Given the description of an element on the screen output the (x, y) to click on. 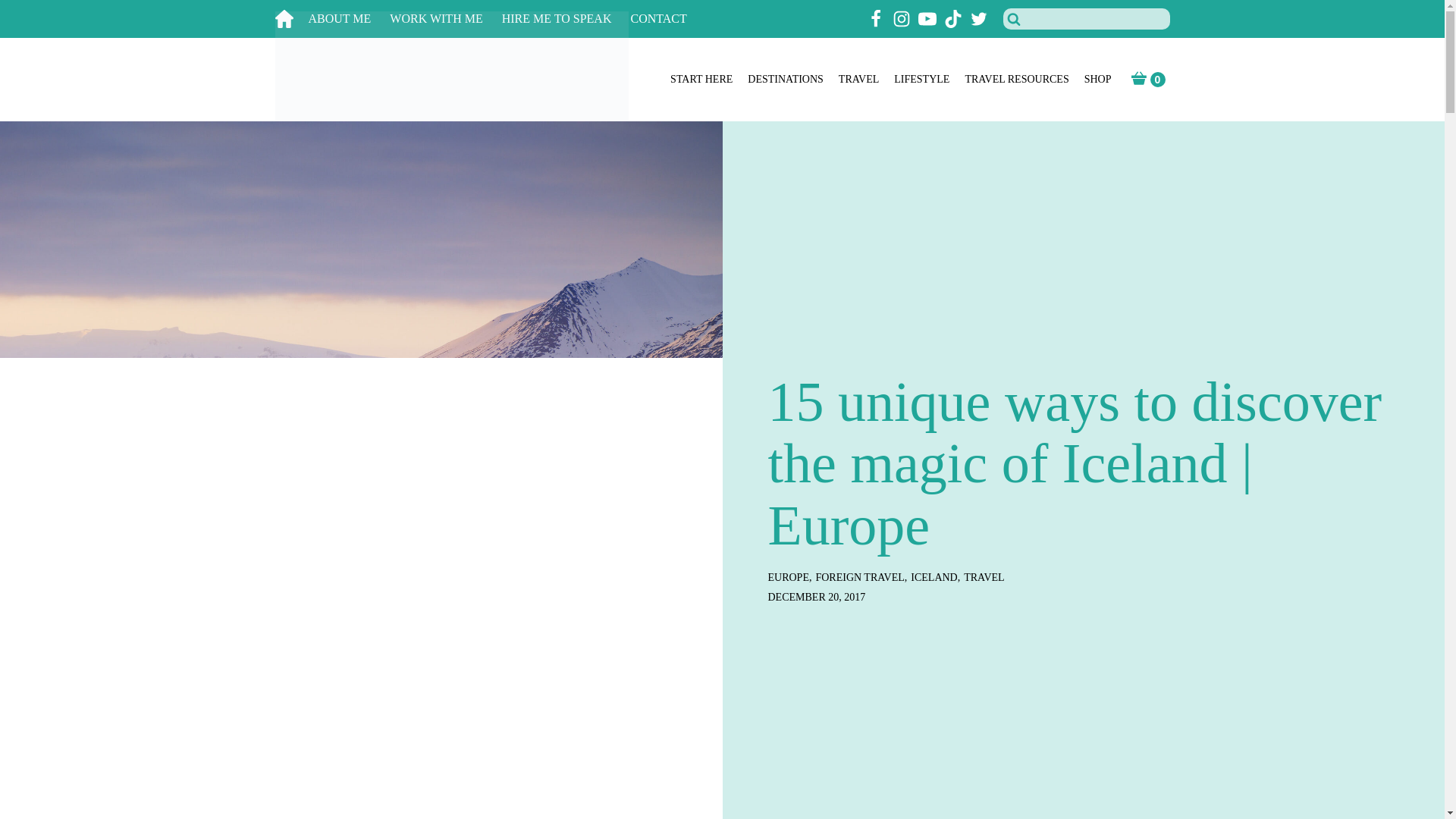
ABOUT ME (348, 19)
TRAVEL RESOURCES (1015, 79)
TRAVEL (858, 79)
WORK WITH ME (445, 19)
HIRE ME TO SPEAK (566, 19)
SHOP (1098, 79)
LIFESTYLE (921, 79)
START HERE (700, 79)
CONTACT (667, 19)
Search (31, 13)
